Given the description of an element on the screen output the (x, y) to click on. 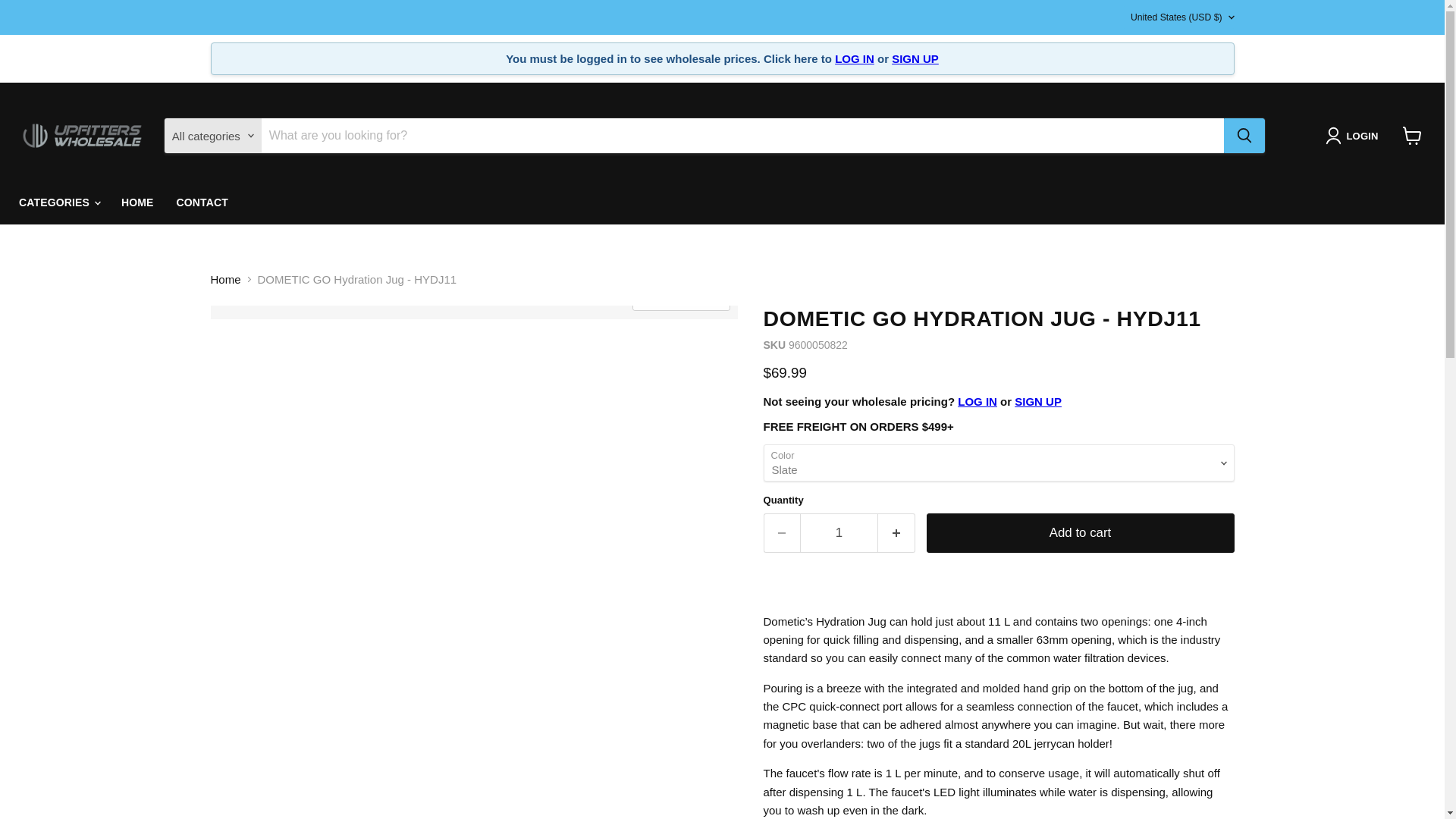
LOGIN (1354, 135)
HOME (137, 202)
LOG IN (854, 58)
1 (838, 532)
SIGN UP (915, 58)
Sign Up (1037, 400)
CONTACT (202, 202)
View cart (1411, 135)
Wholesale Login (977, 400)
Sign Up (915, 58)
